Given the description of an element on the screen output the (x, y) to click on. 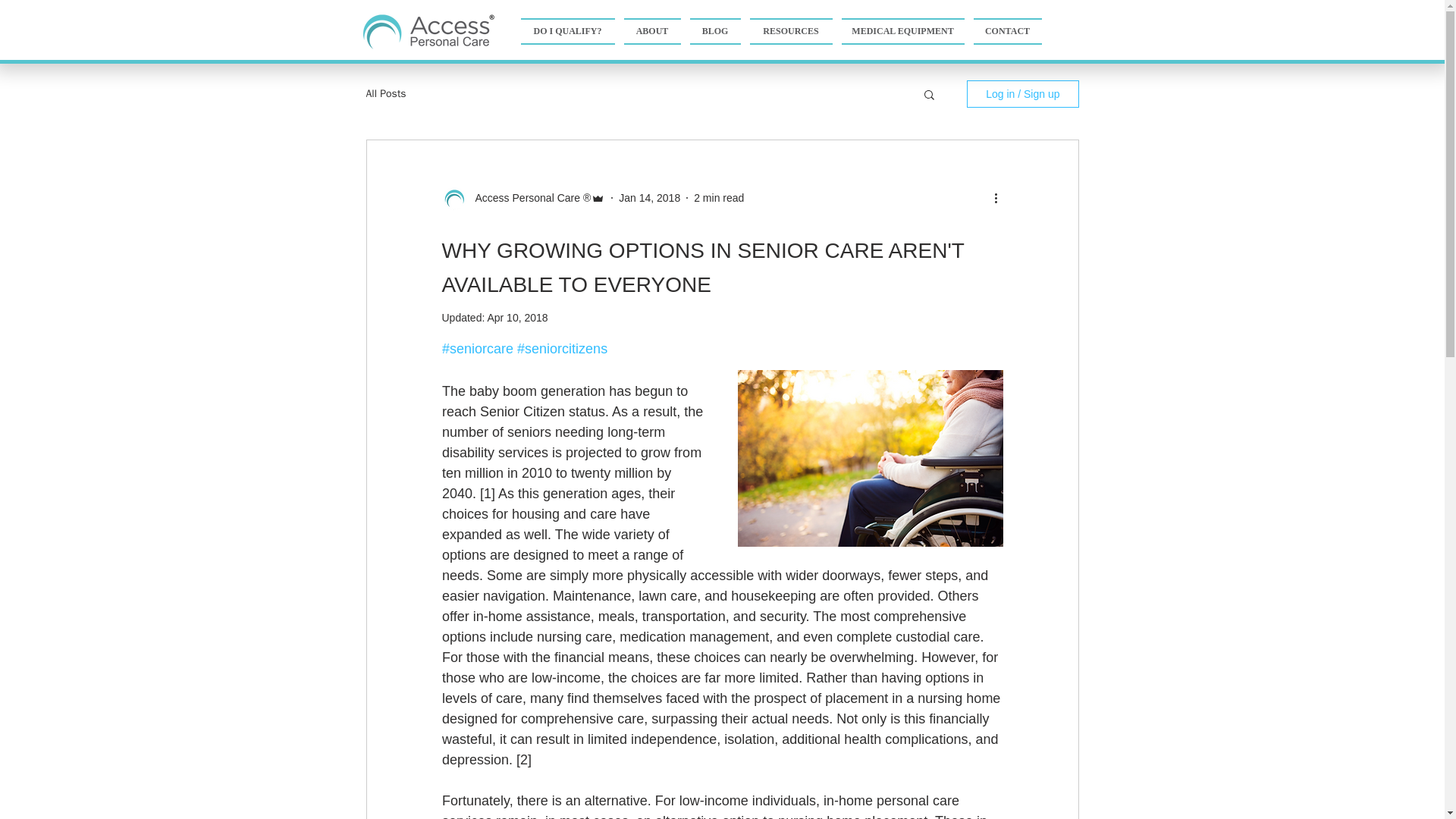
All Posts (385, 93)
ABOUT (651, 31)
BLOG (715, 31)
MEDICAL EQUIPMENT (903, 31)
Apr 10, 2018 (516, 317)
RESOURCES (789, 31)
CONTACT (1005, 31)
2 min read (719, 196)
DO I QUALIFY? (568, 31)
Jan 14, 2018 (648, 196)
